Given the description of an element on the screen output the (x, y) to click on. 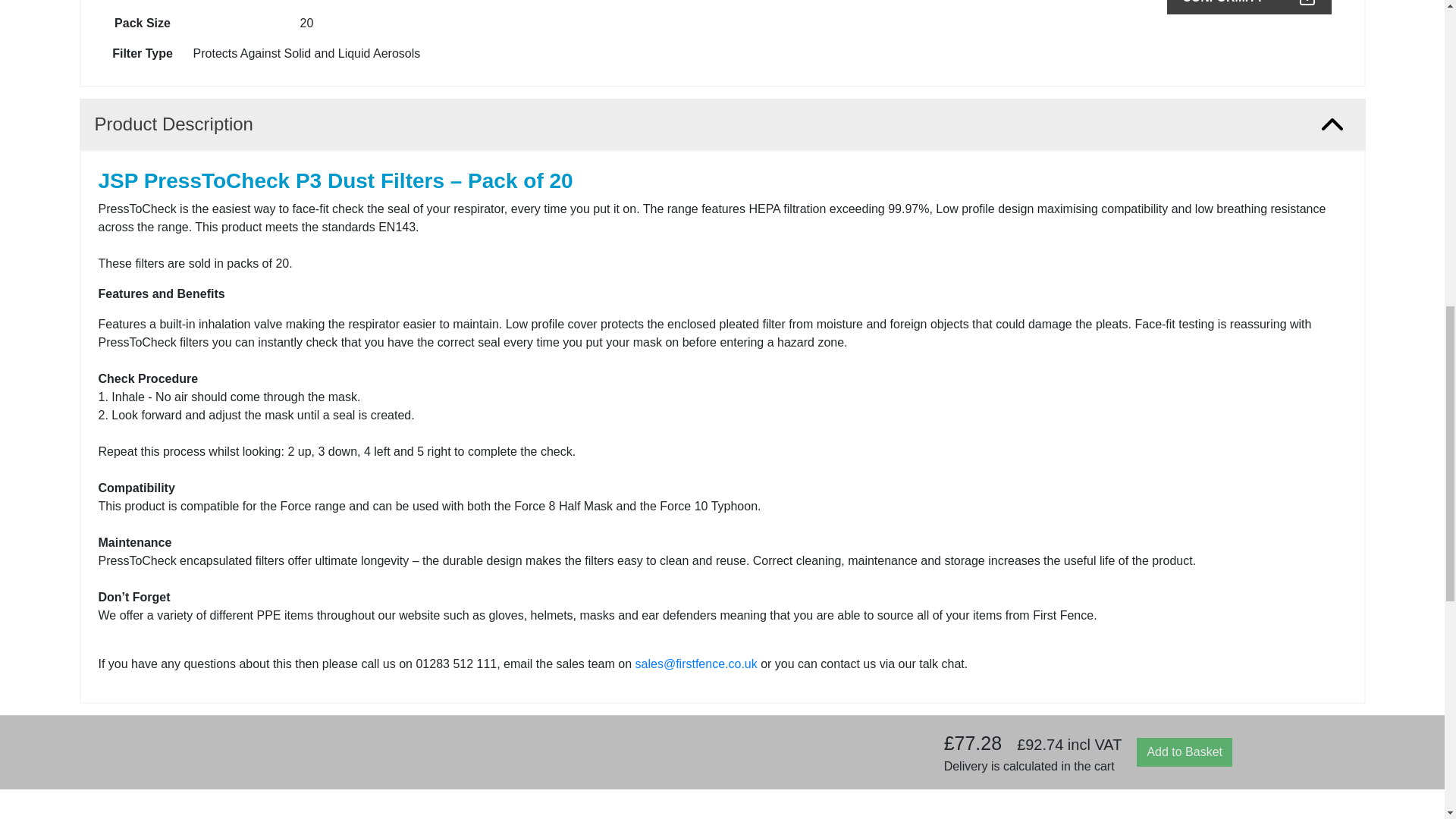
CONFORMITY (1248, 7)
